Given the description of an element on the screen output the (x, y) to click on. 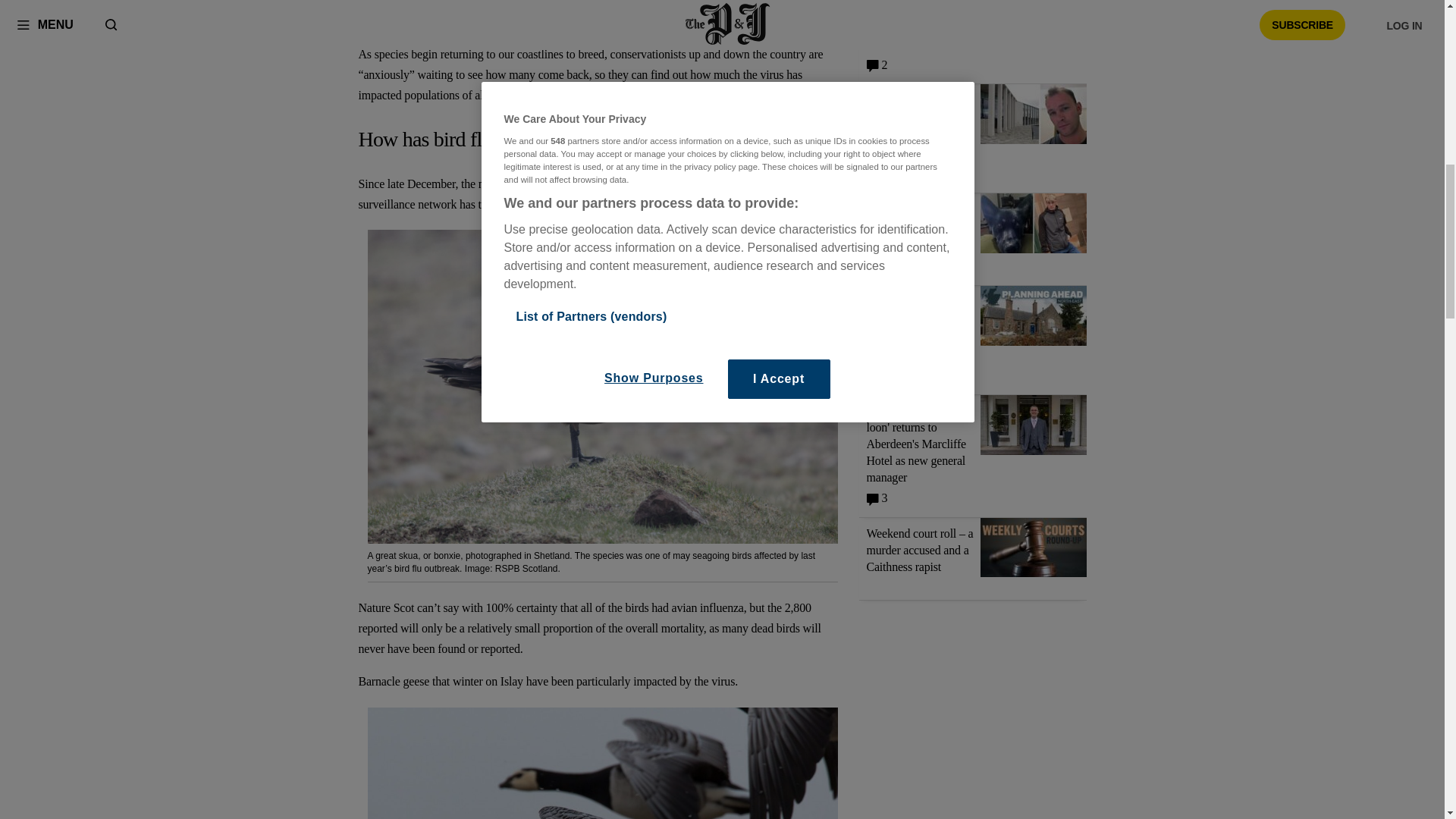
3 (876, 495)
